Given the description of an element on the screen output the (x, y) to click on. 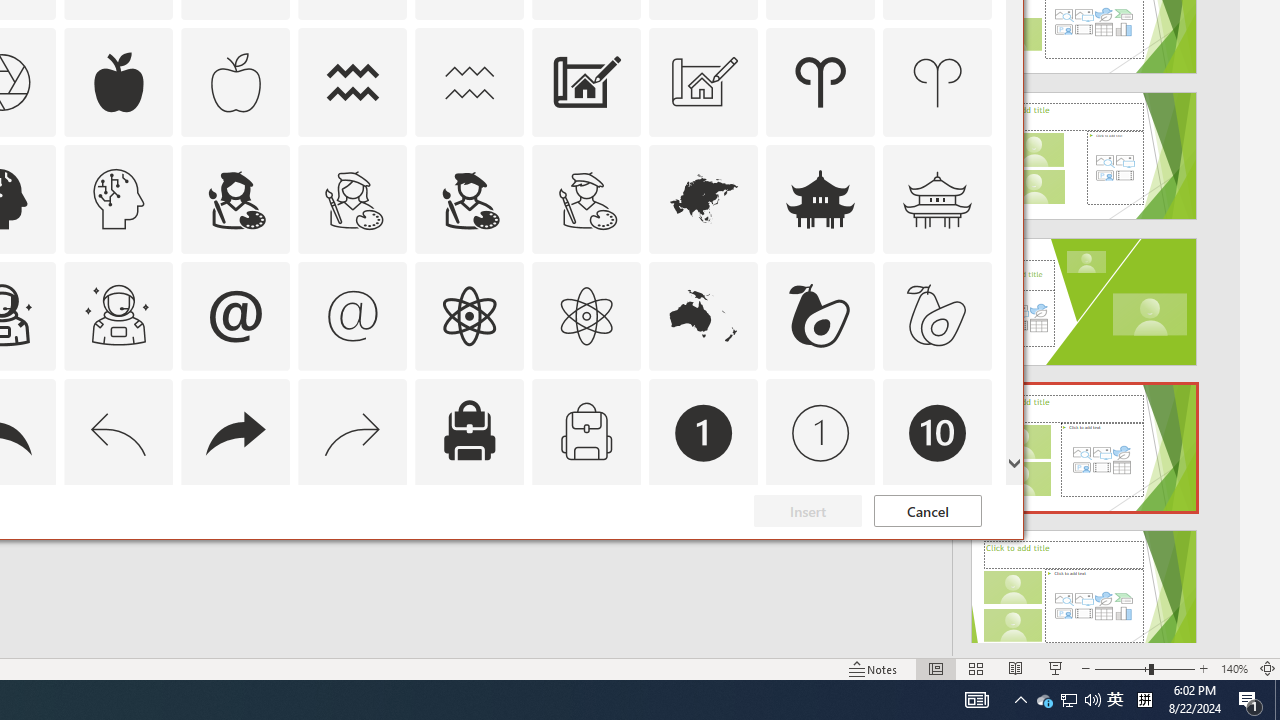
AutomationID: Icons_Architecture (586, 82)
AutomationID: Icons_ArtistMale (469, 198)
Action Center, 1 new notification (1250, 699)
